Given the description of an element on the screen output the (x, y) to click on. 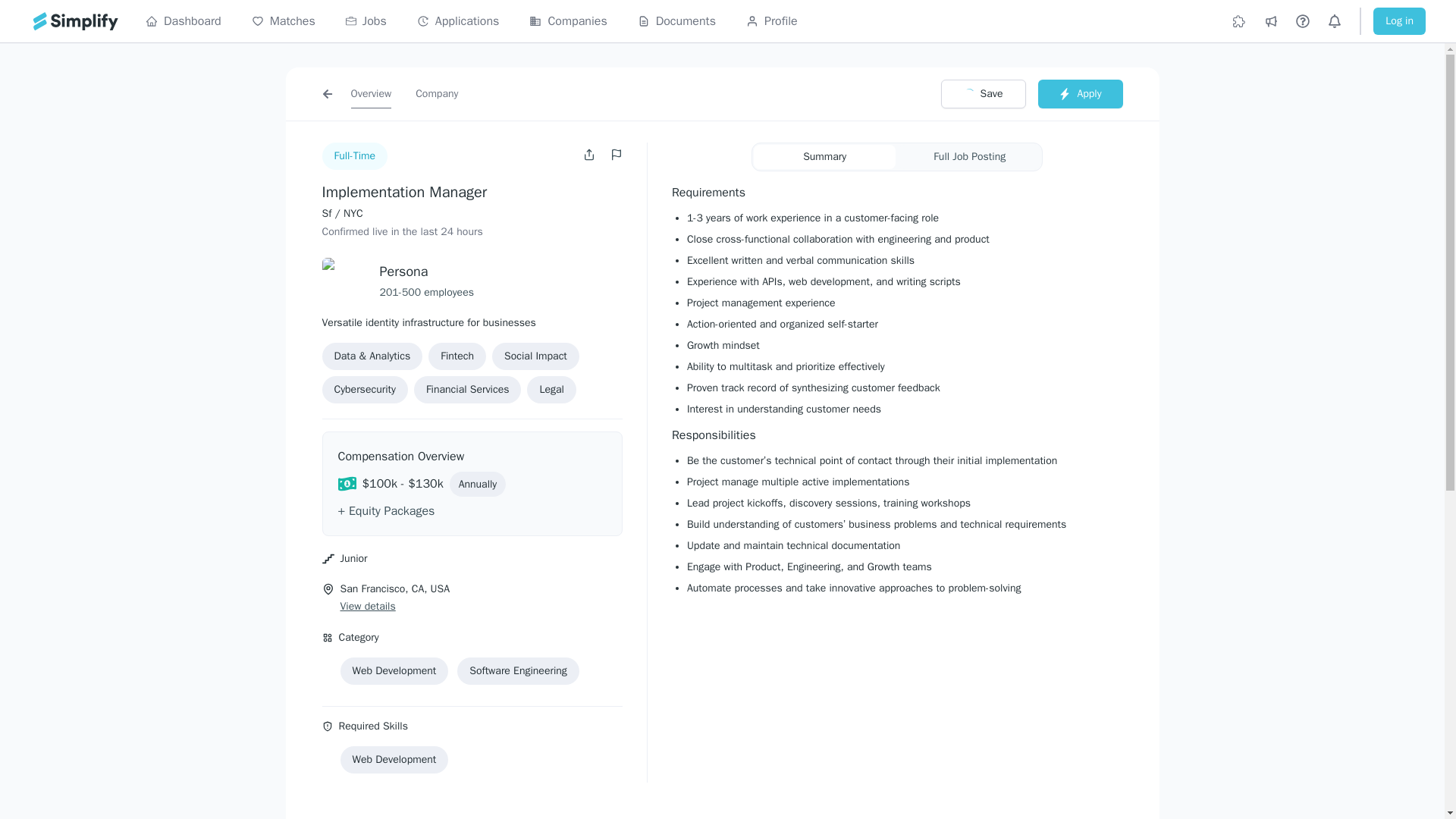
Matches (283, 21)
Full Job Posting (969, 156)
Applications (457, 21)
Jobs (366, 21)
Open user menu (590, 154)
Overview (370, 93)
Dashboard (183, 21)
Company (436, 93)
Apply (1079, 93)
Save (982, 93)
View details (366, 606)
Summary (824, 156)
Companies (568, 21)
Profile (771, 21)
Log in (1399, 21)
